Given the description of an element on the screen output the (x, y) to click on. 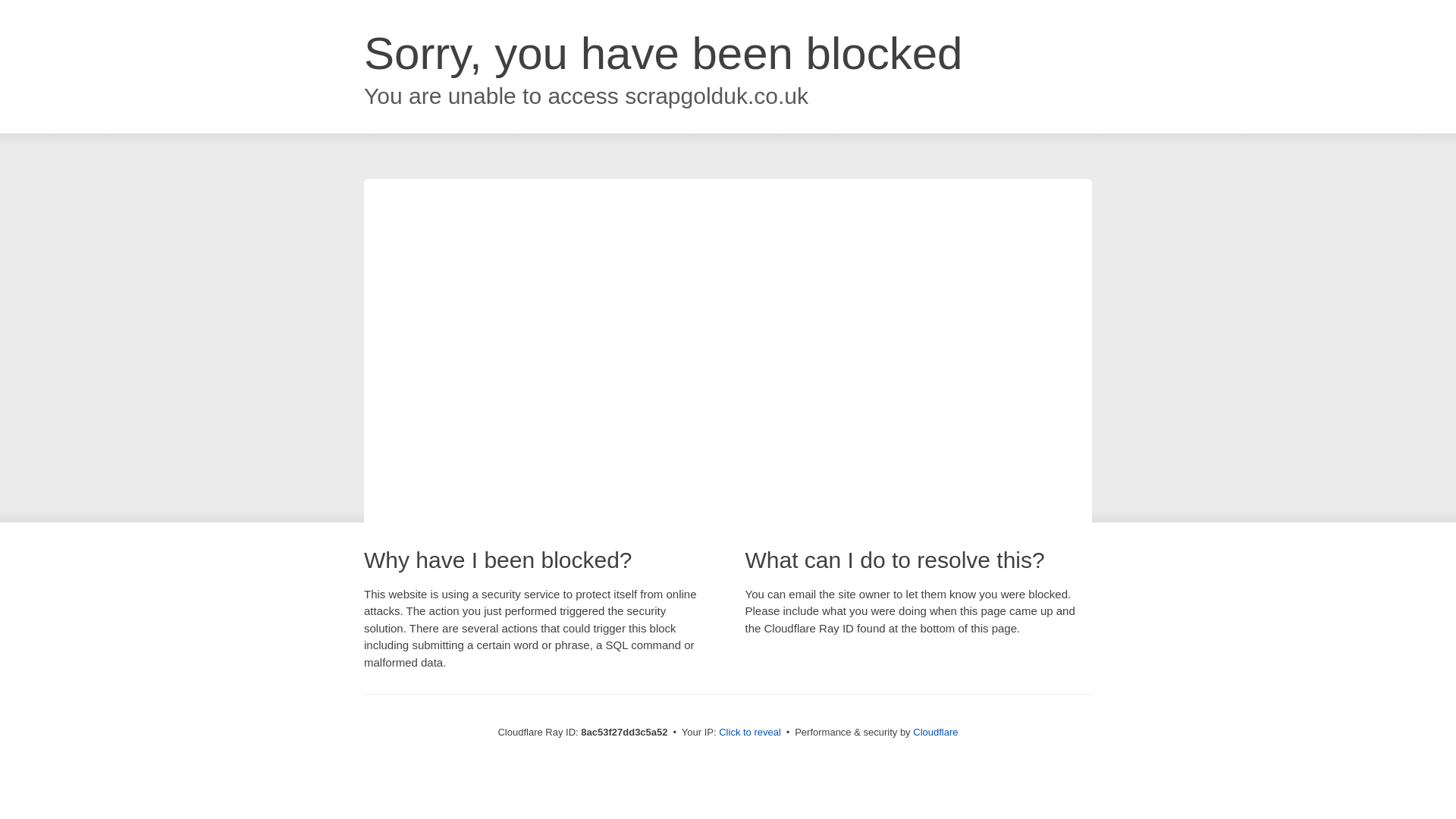
Cloudflare (935, 731)
Click to reveal (749, 732)
